Given the description of an element on the screen output the (x, y) to click on. 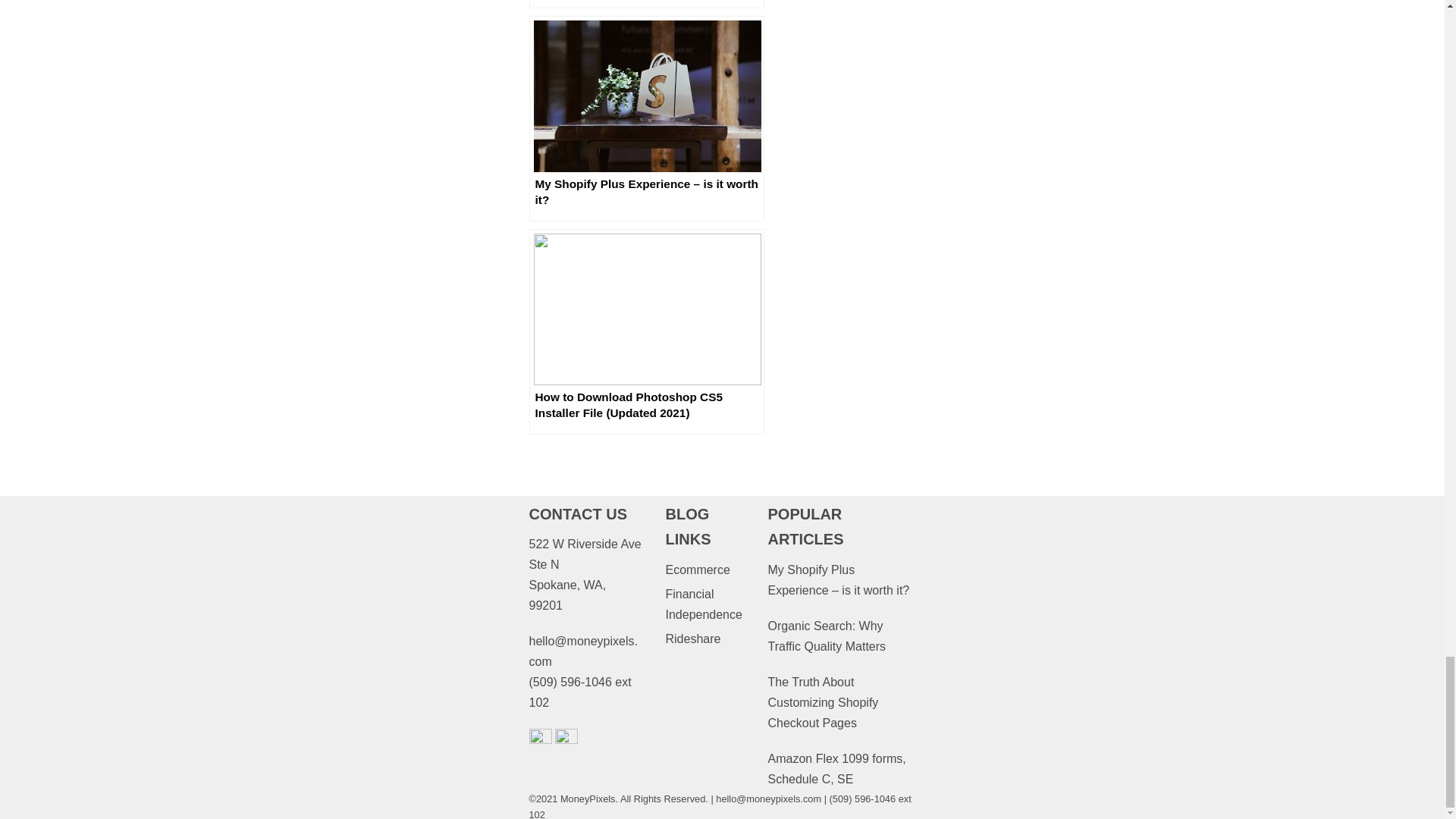
The Truth About Customizing Shopify Checkout Pages (822, 702)
Ecommerce (697, 569)
Rideshare (692, 638)
Financial Independence (703, 604)
Amazon Flex 1099 forms, Schedule C, SE (836, 768)
Organic Search: Why Traffic Quality Matters (826, 635)
